Given the description of an element on the screen output the (x, y) to click on. 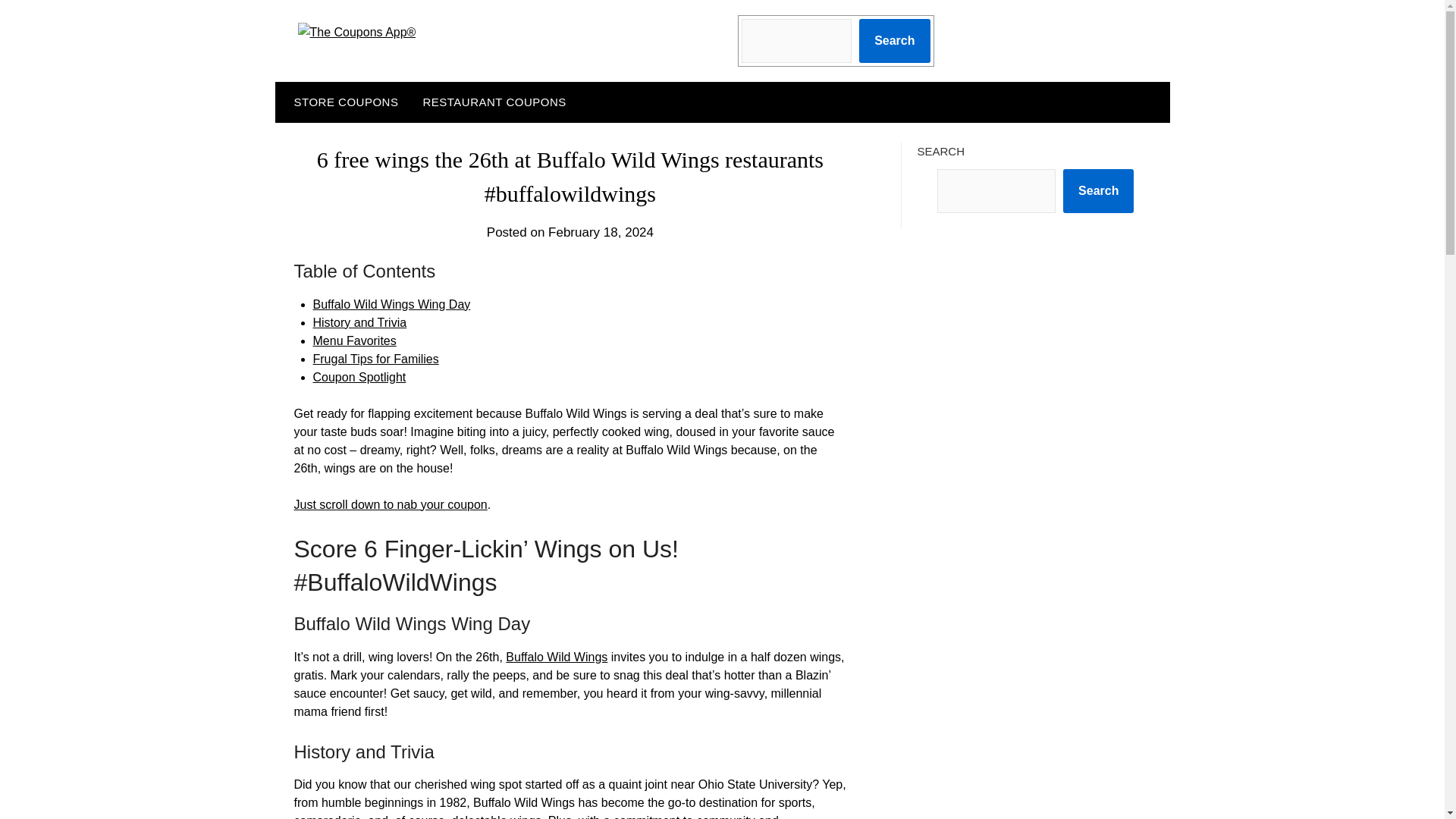
Buffalo Wild Wings (556, 656)
Frugal Tips for Families (375, 358)
RESTAURANT COUPONS (494, 101)
Buffalo Wild Wings Wing Day (391, 304)
Just scroll down to nab your coupon (390, 504)
Coupon Spotlight (359, 377)
February 18, 2024 (600, 232)
History and Trivia (359, 322)
STORE COUPONS (342, 101)
Menu Favorites (354, 340)
Search (894, 40)
